Given the description of an element on the screen output the (x, y) to click on. 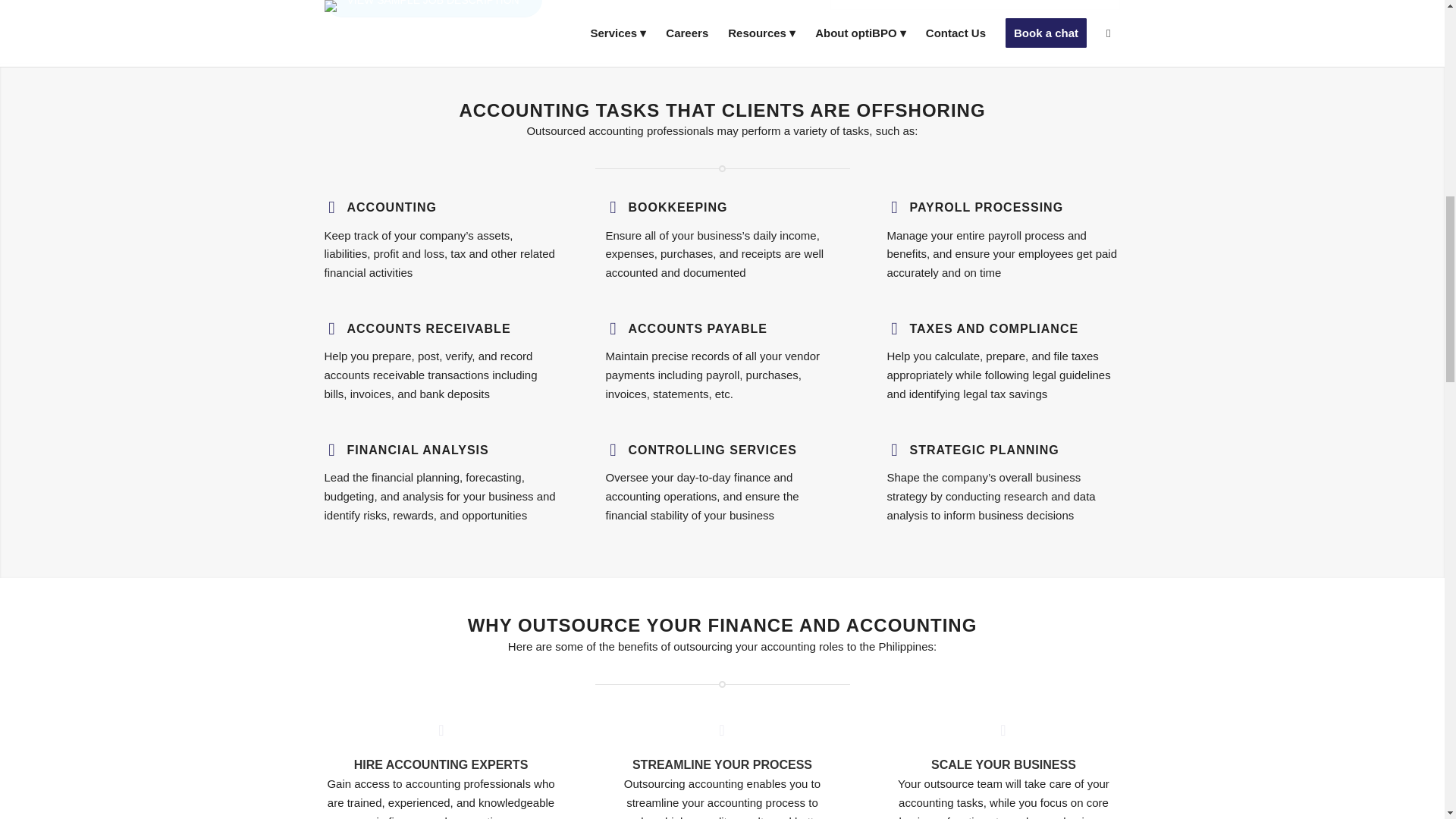
VIEW SAMPLE JOB DESCRIPTION (432, 8)
